Given the description of an element on the screen output the (x, y) to click on. 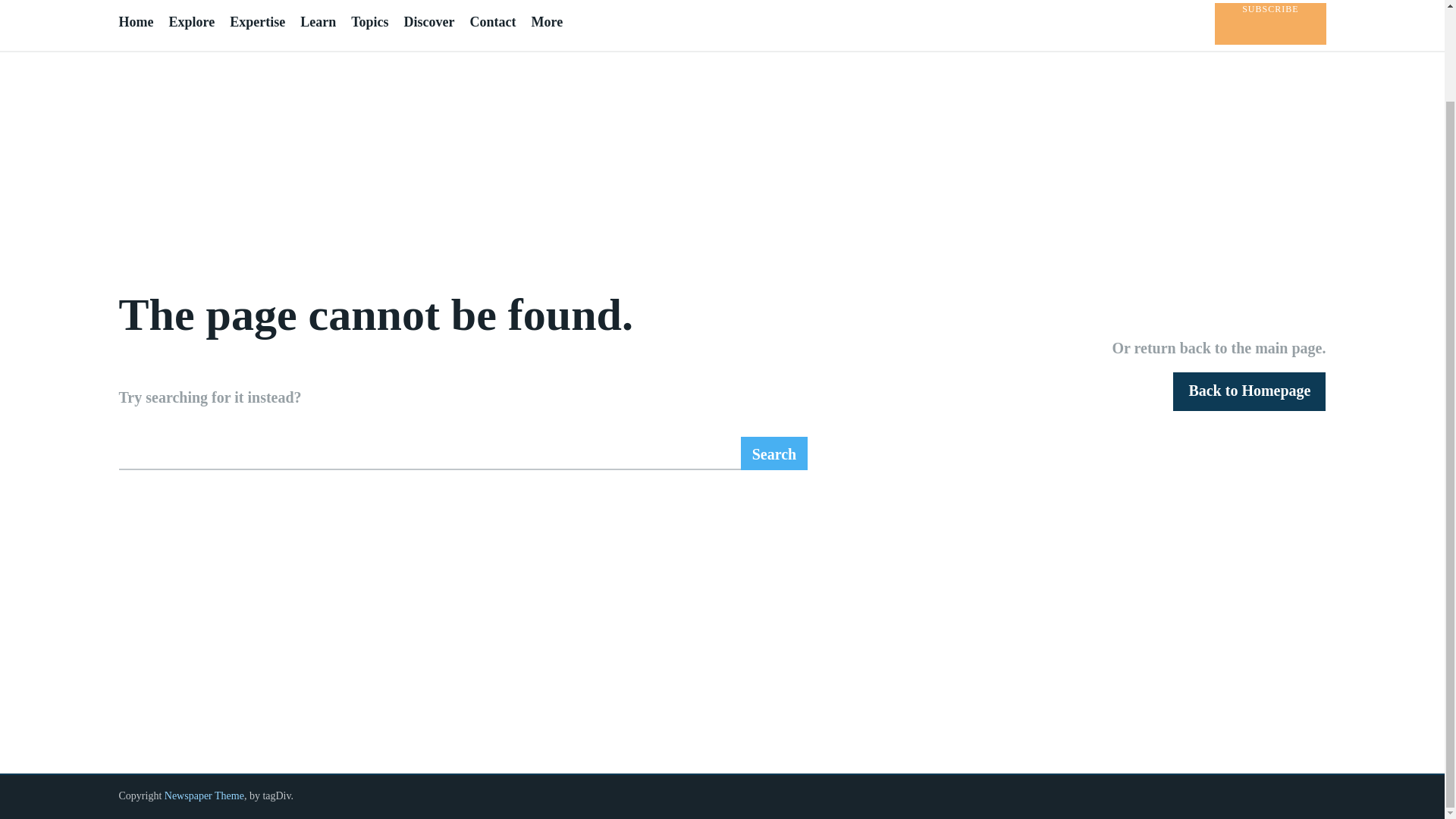
Topics (369, 22)
Contact (491, 22)
SUBSCRIBE (1269, 24)
Expertise (257, 22)
Learn (317, 22)
More (546, 22)
Explore (191, 22)
Home (134, 22)
Discover (428, 22)
